Given the description of an element on the screen output the (x, y) to click on. 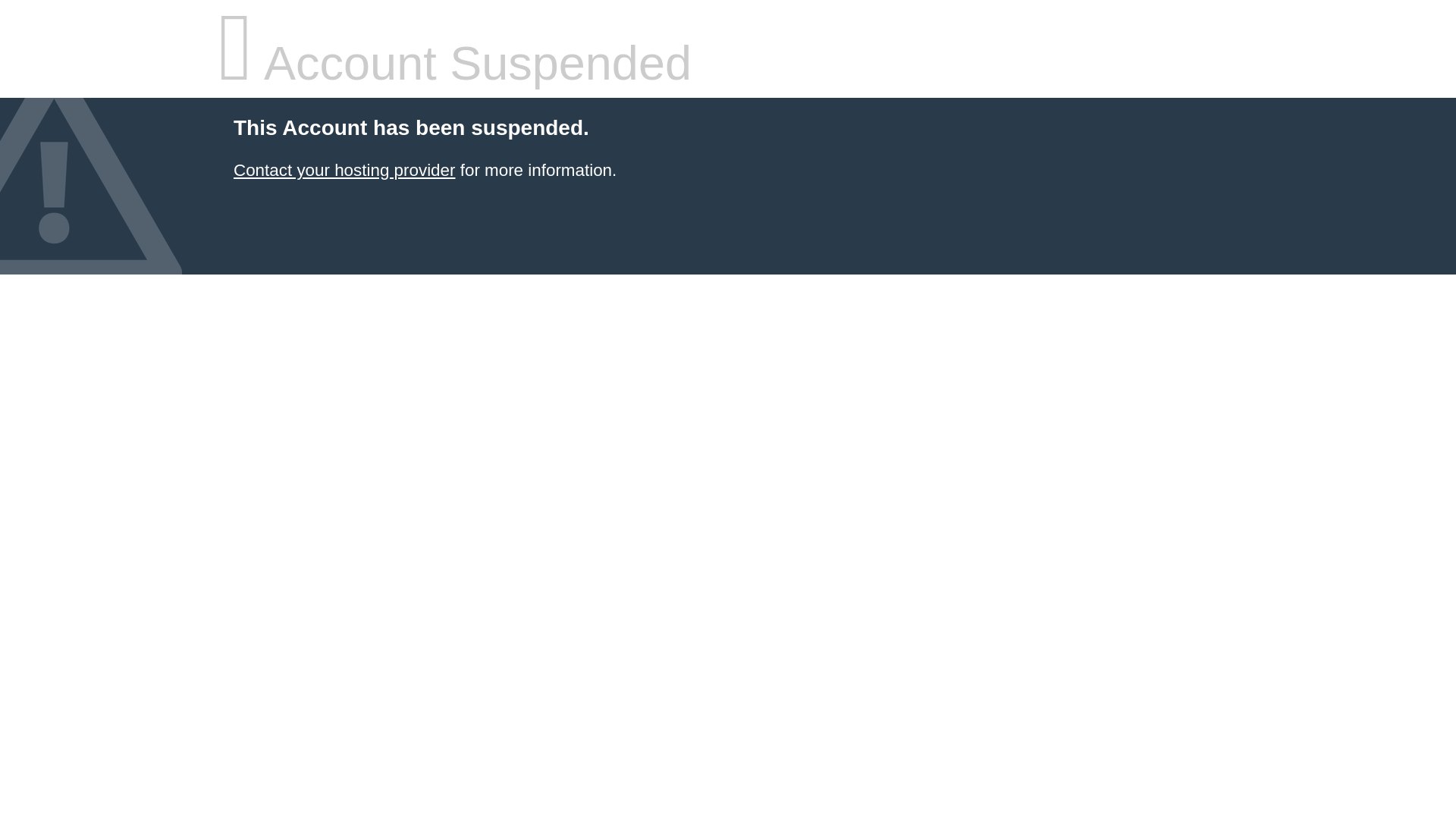
Contact your hosting provider (343, 169)
